Given the description of an element on the screen output the (x, y) to click on. 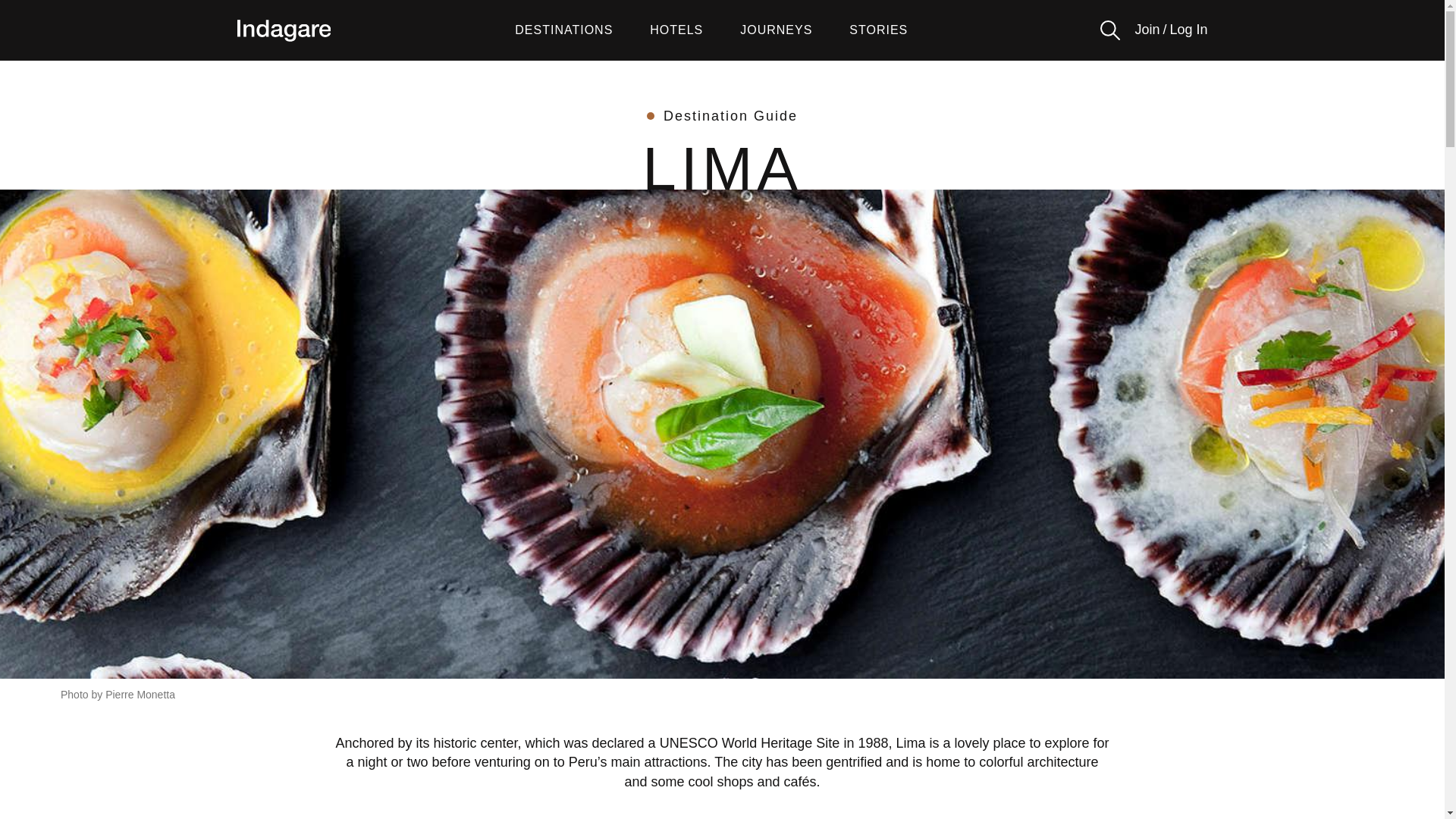
DESTINATIONS (563, 30)
JOURNEYS (775, 30)
Join (1146, 29)
HOTELS (676, 30)
Log In (1188, 29)
STORIES (877, 30)
